Given the description of an element on the screen output the (x, y) to click on. 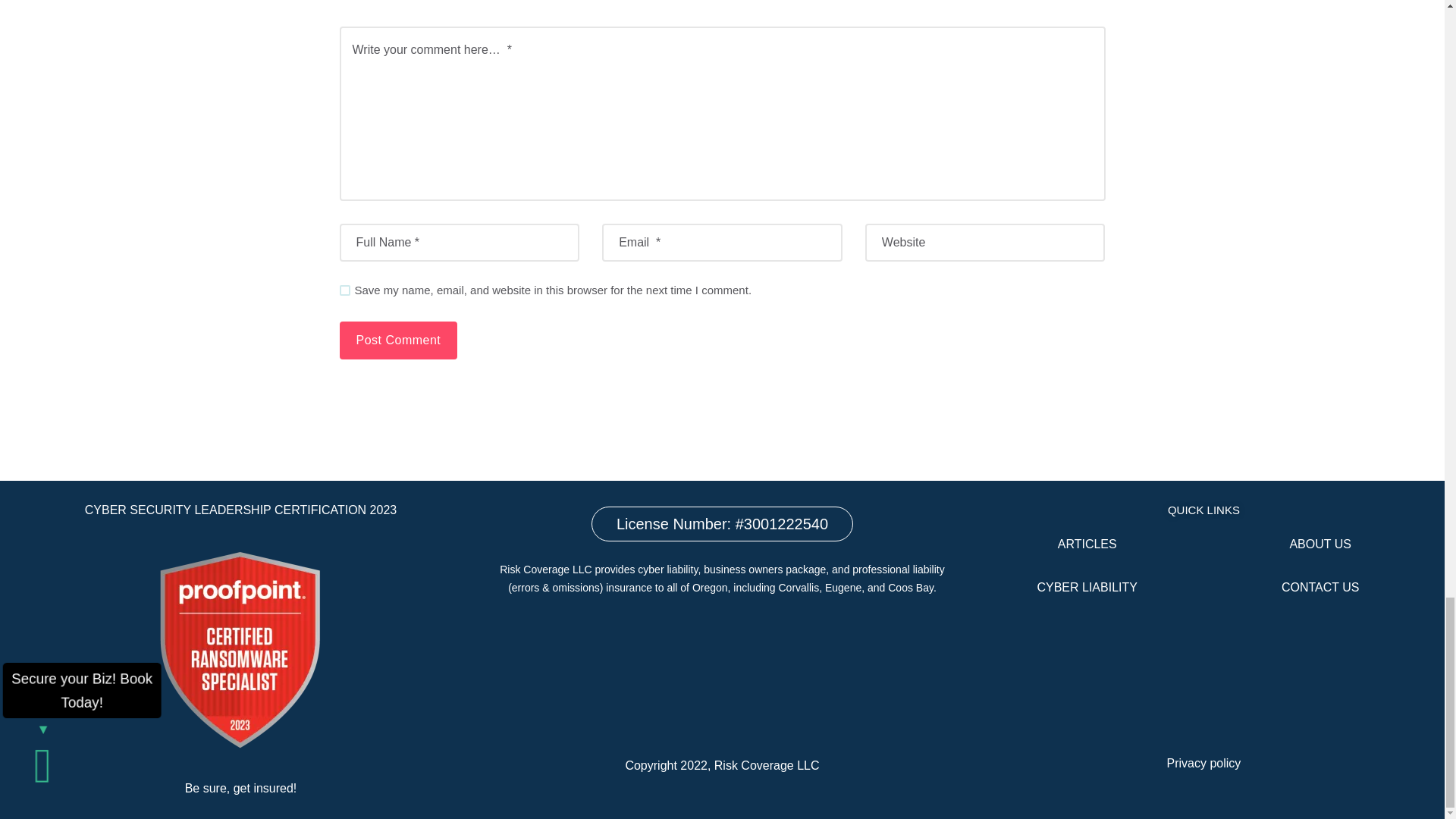
Post Comment (398, 340)
Post Comment (398, 340)
ARTICLES (1087, 543)
CONTACT US (1320, 586)
CYBER LIABILITY (1086, 586)
ABOUT US (1319, 543)
